Given the description of an element on the screen output the (x, y) to click on. 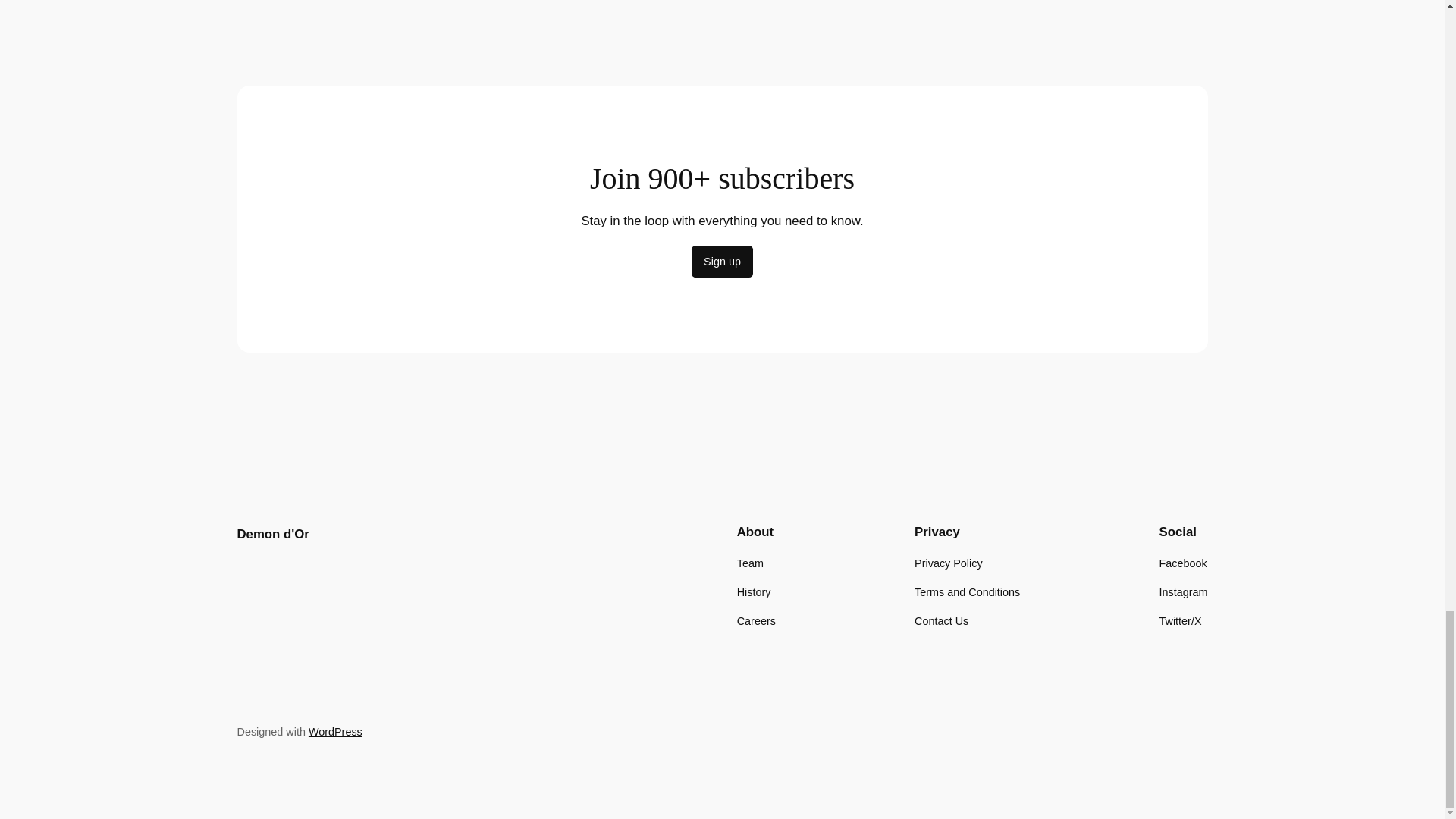
Terms and Conditions (967, 591)
Privacy Policy (948, 563)
Careers (756, 620)
Facebook (1182, 563)
WordPress (335, 731)
Contact Us (941, 620)
Sign up (721, 261)
Instagram (1182, 591)
Team (749, 563)
Demon d'Or (271, 534)
